Given the description of an element on the screen output the (x, y) to click on. 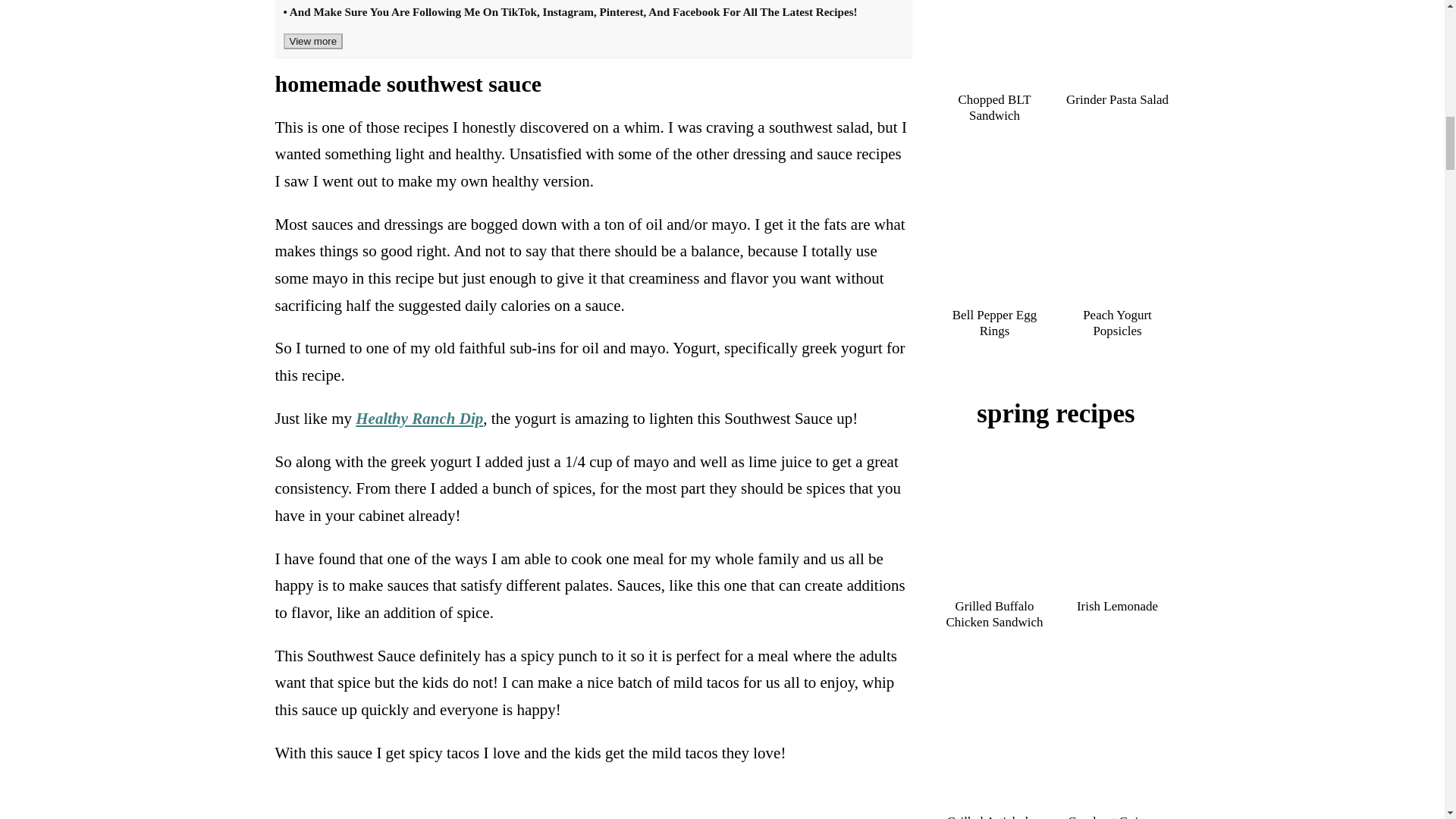
Greek Yogurt Southwest Sauce (362, 1)
